Given the description of an element on the screen output the (x, y) to click on. 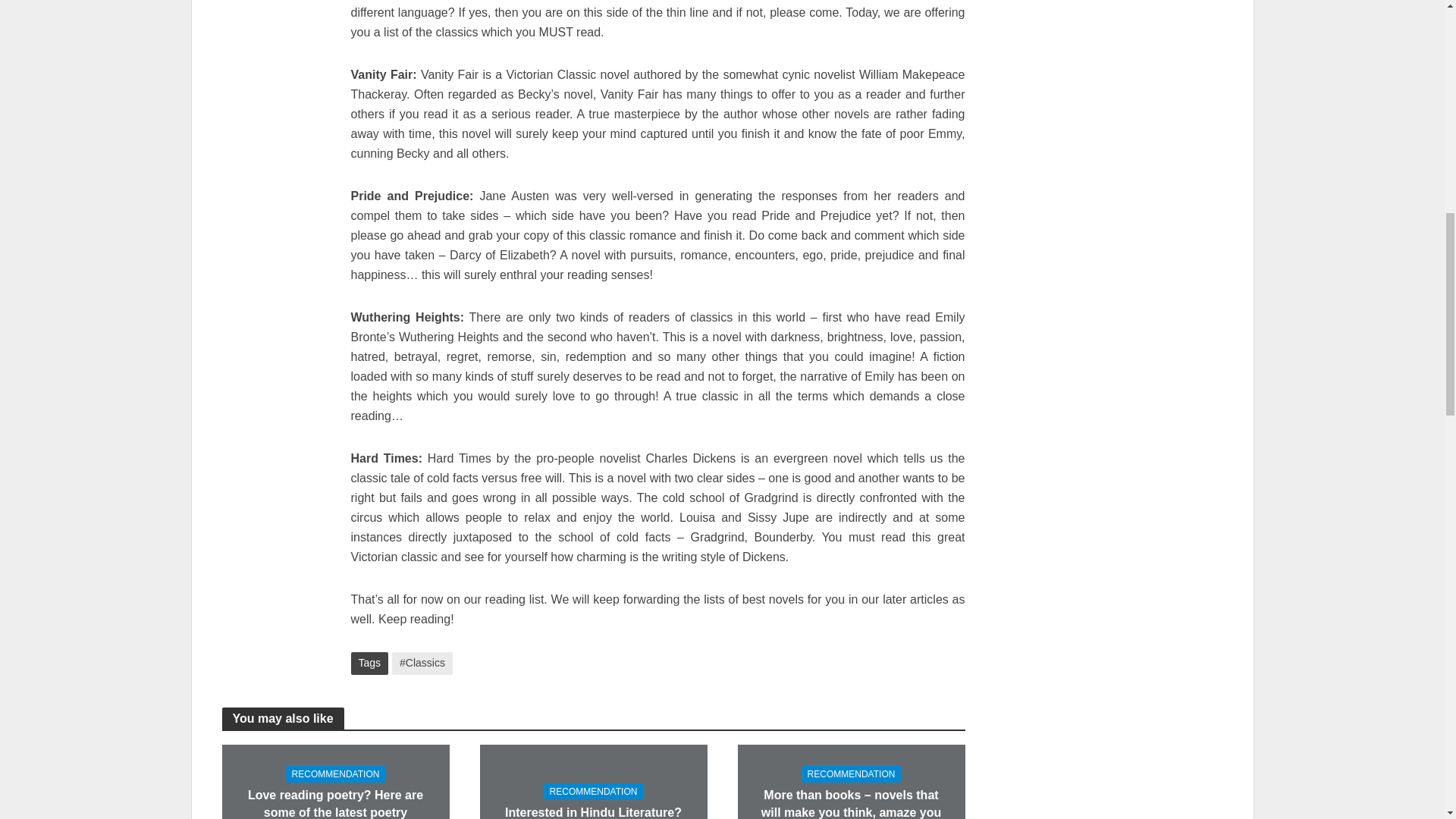
RECOMMENDATION (593, 791)
RECOMMENDATION (335, 773)
Interested in Hindu Literature? Start by reading these books (593, 811)
RECOMMENDATION (851, 773)
Interested in Hindu Literature? Start by reading these books (592, 816)
Novels to Read on Indian Freedom Struggle (327, 48)
